Given the description of an element on the screen output the (x, y) to click on. 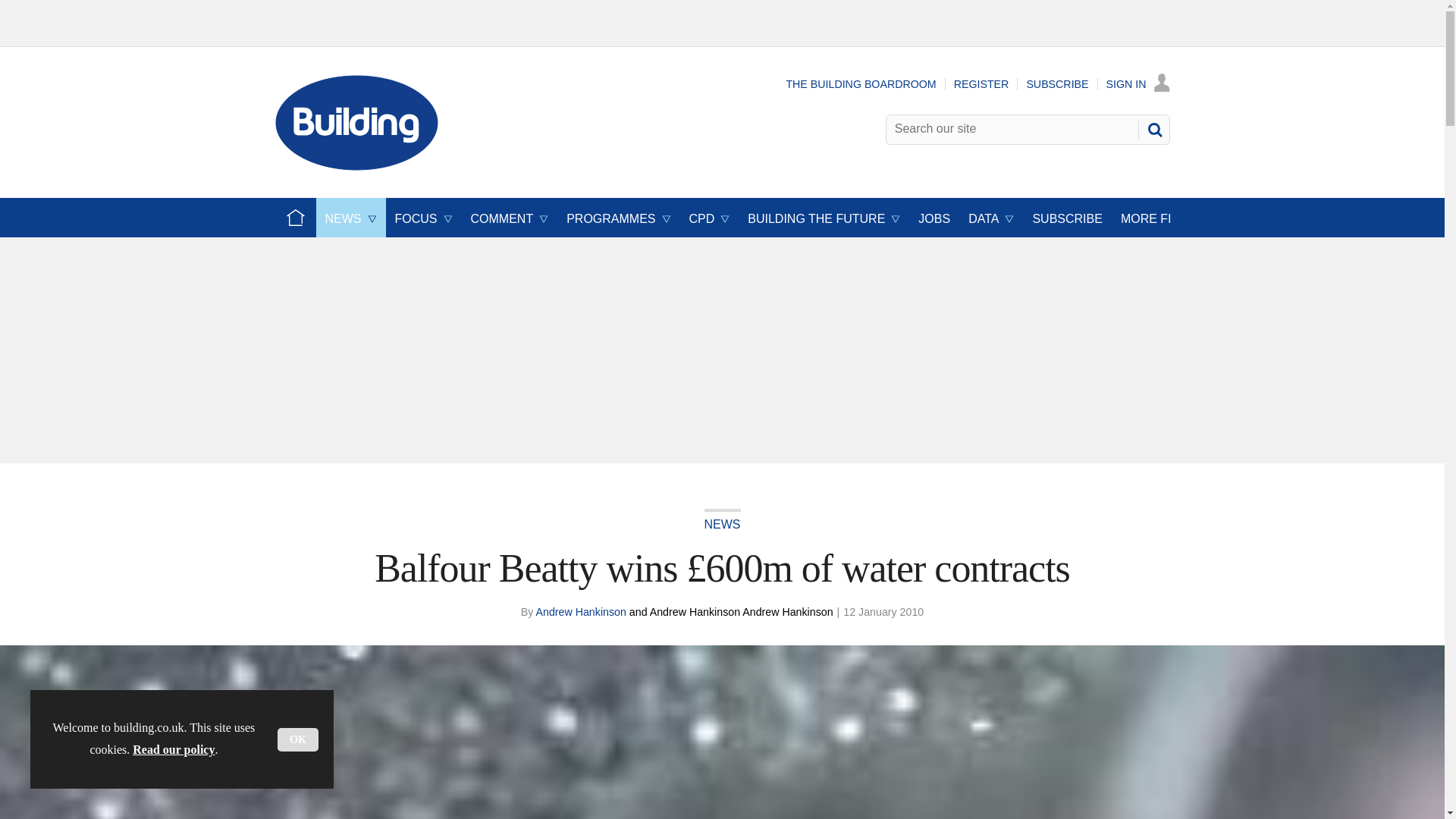
Insert Logo text (356, 165)
THE BUILDING BOARDROOM (861, 83)
Read our policy (173, 748)
SUBSCRIBE (1056, 83)
REGISTER (981, 83)
SIGN IN (1138, 83)
SEARCH (1153, 129)
OK (298, 739)
